Given the description of an element on the screen output the (x, y) to click on. 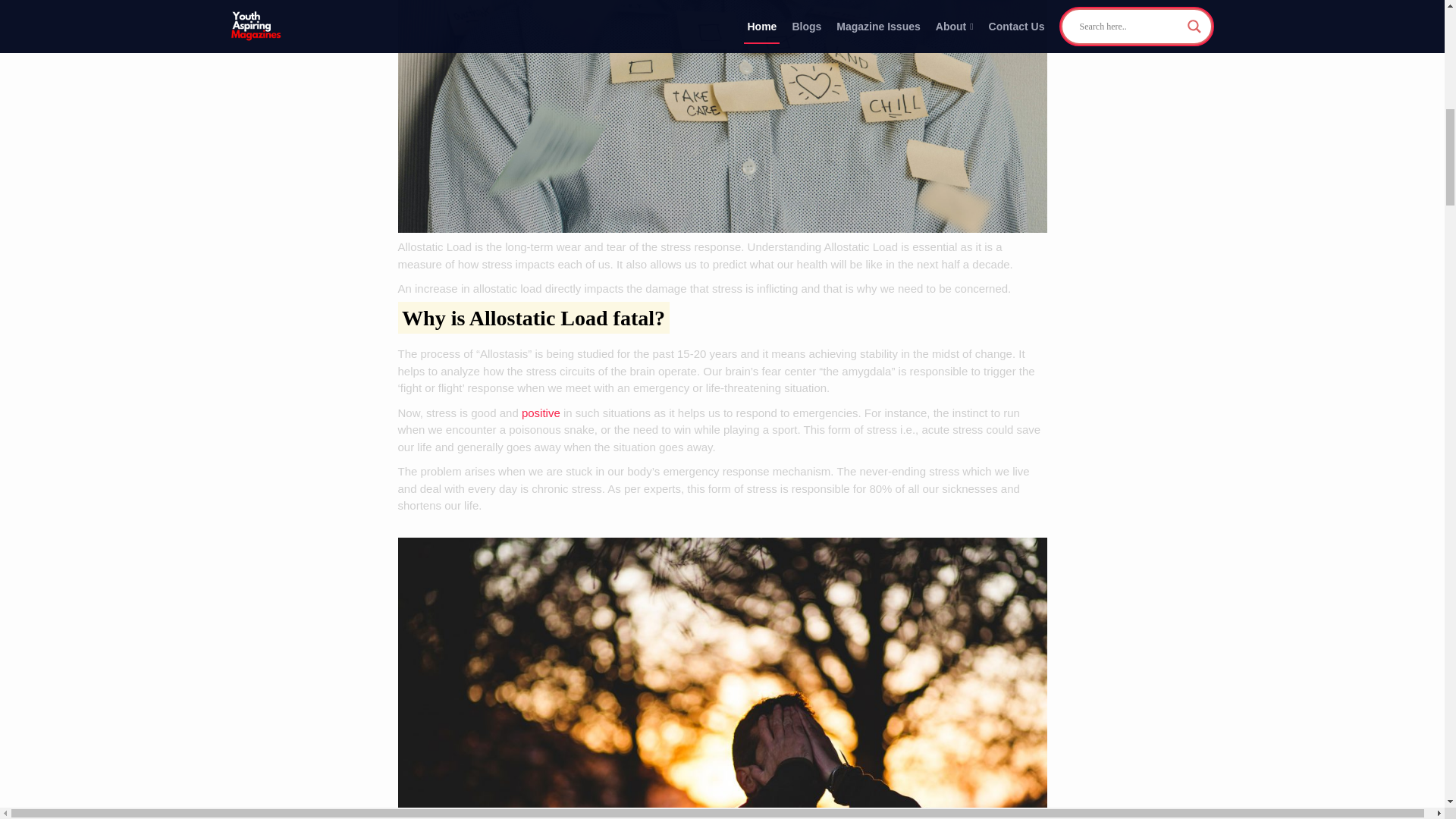
positive (540, 412)
